Given the description of an element on the screen output the (x, y) to click on. 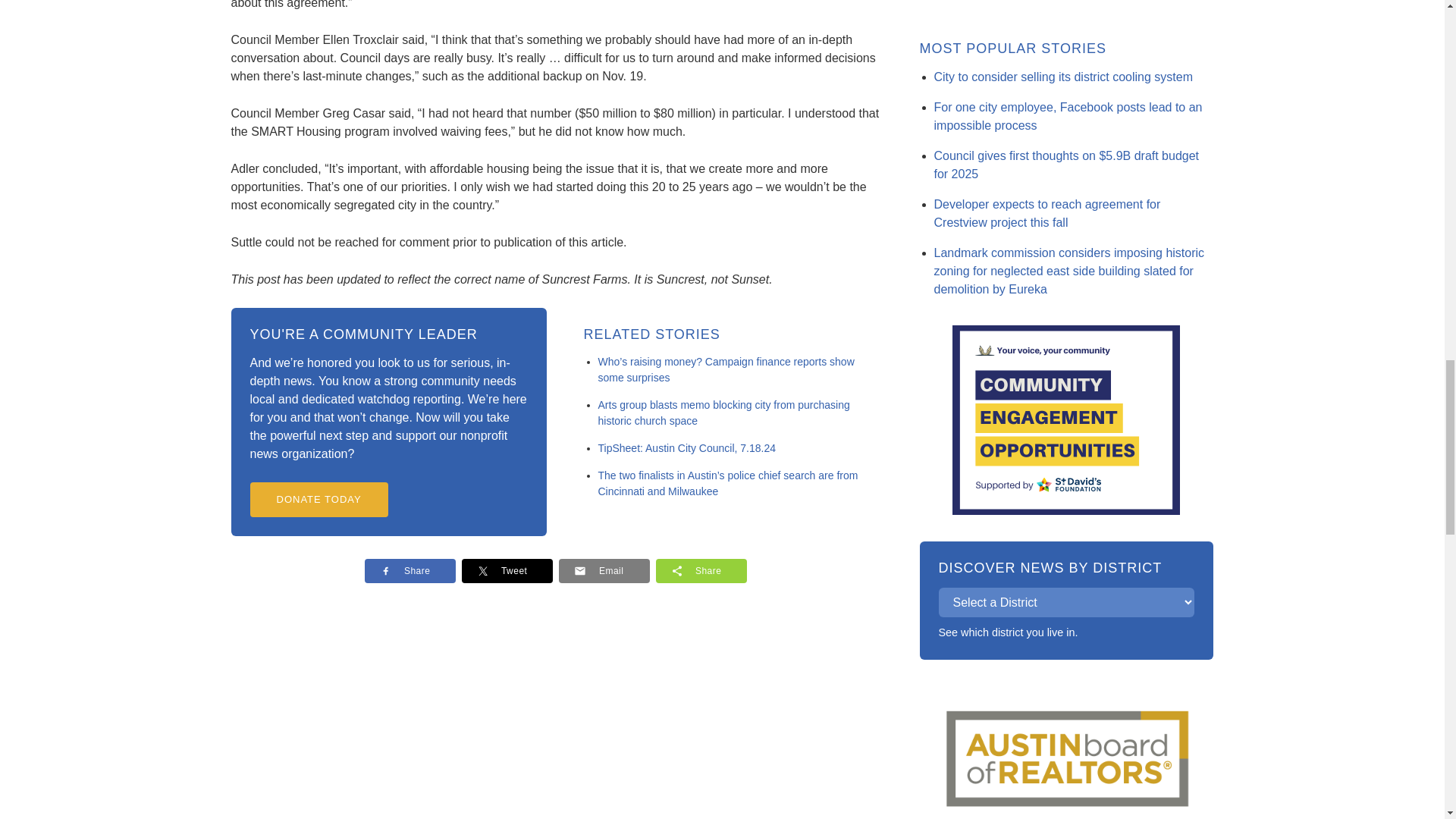
DONATE TODAY (319, 499)
TipSheet: Austin City Council, 7.18.24 (686, 448)
Local stories in your part of Austin (1007, 632)
TipSheet: Austin City Council, 7.18.24 (686, 448)
